Given the description of an element on the screen output the (x, y) to click on. 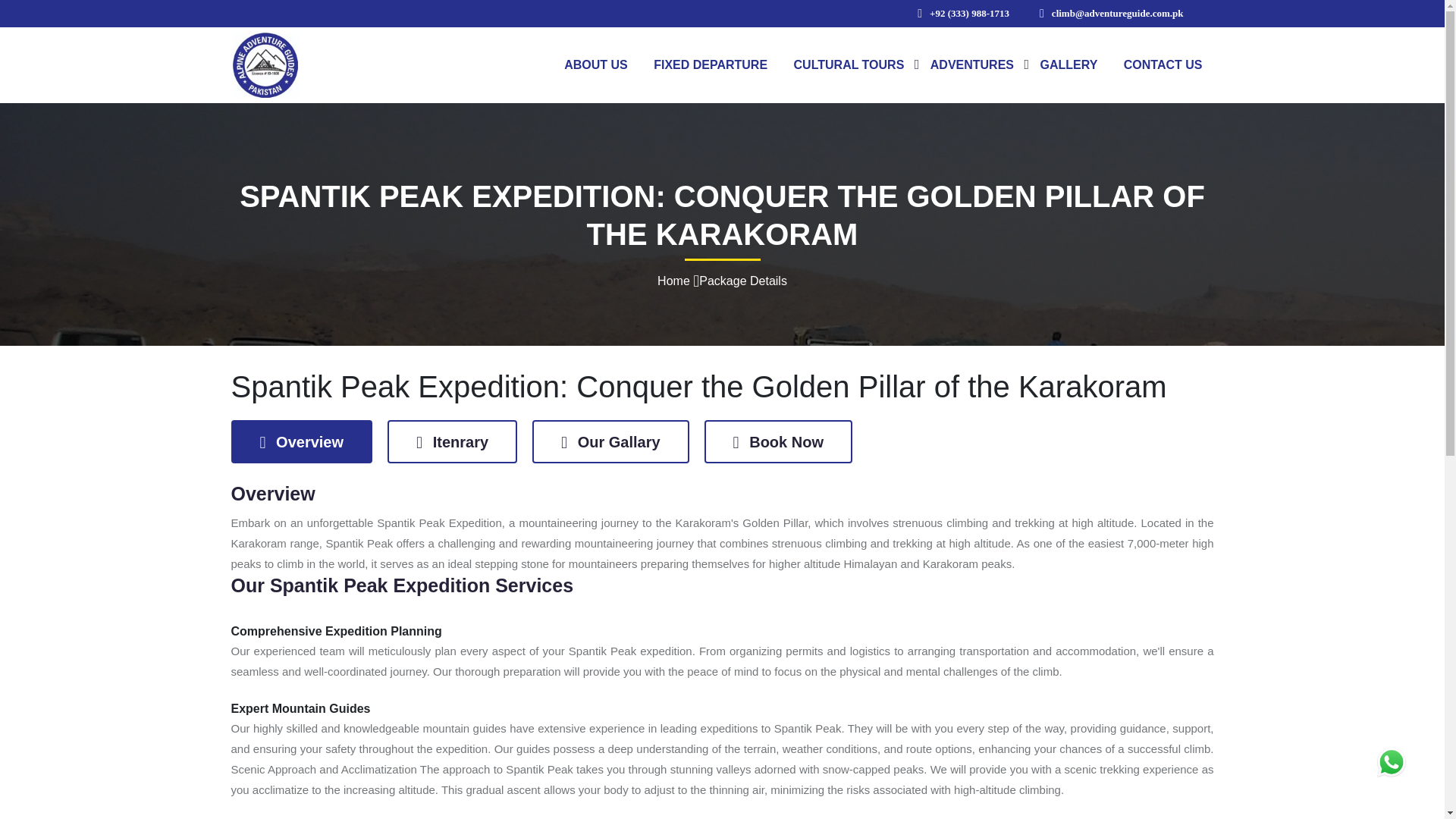
ADVENTURES (971, 63)
FIXED DEPARTURE (710, 63)
Overview (301, 441)
Home (674, 280)
CONTACT US (1163, 63)
ABOUT US (595, 63)
CULTURAL TOURS (848, 63)
